Given the description of an element on the screen output the (x, y) to click on. 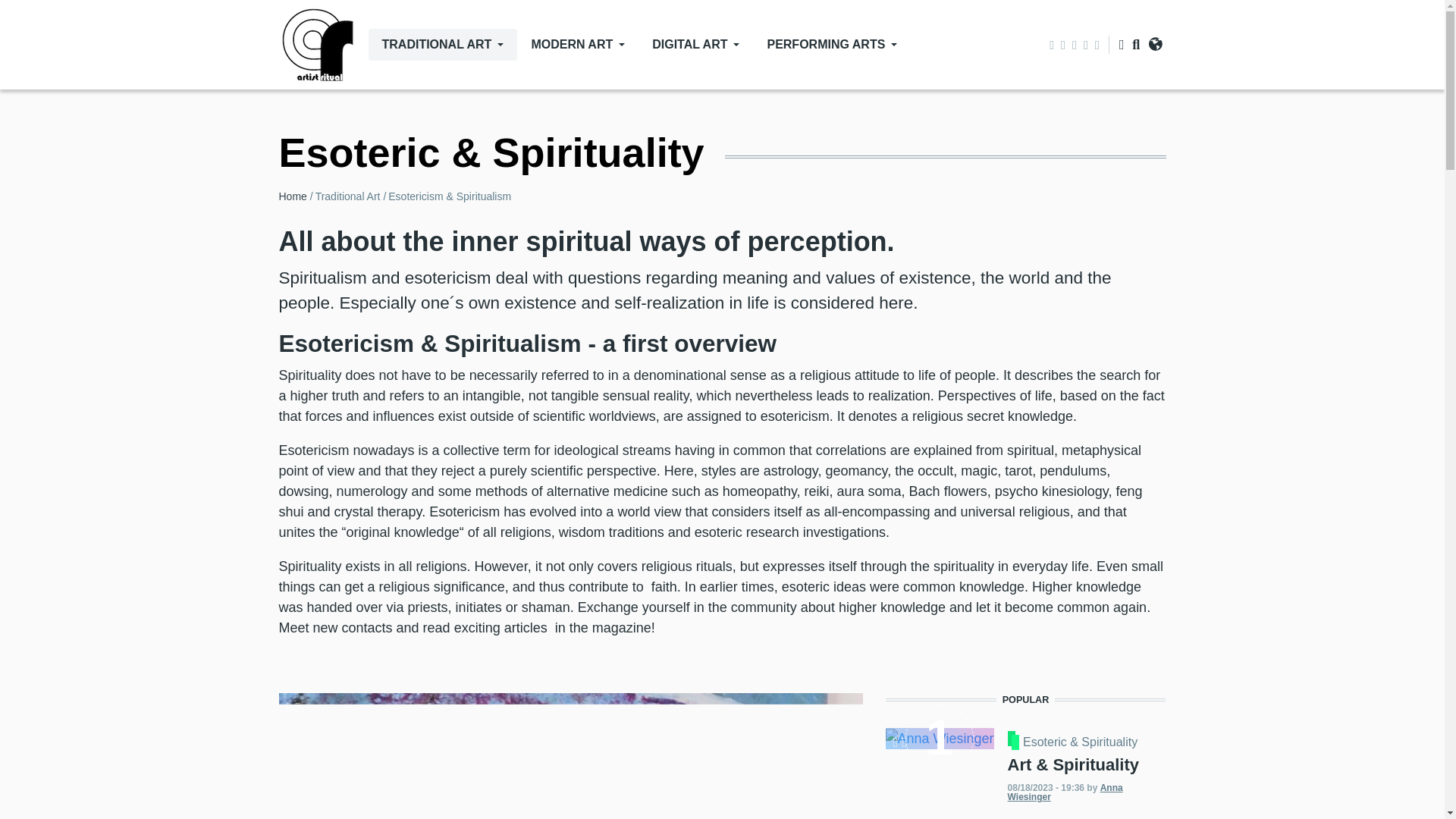
PERFORMING ARTS (831, 44)
DIGITAL ART (695, 44)
MODERN ART (577, 44)
TRADITIONAL ART (443, 44)
